Given the description of an element on the screen output the (x, y) to click on. 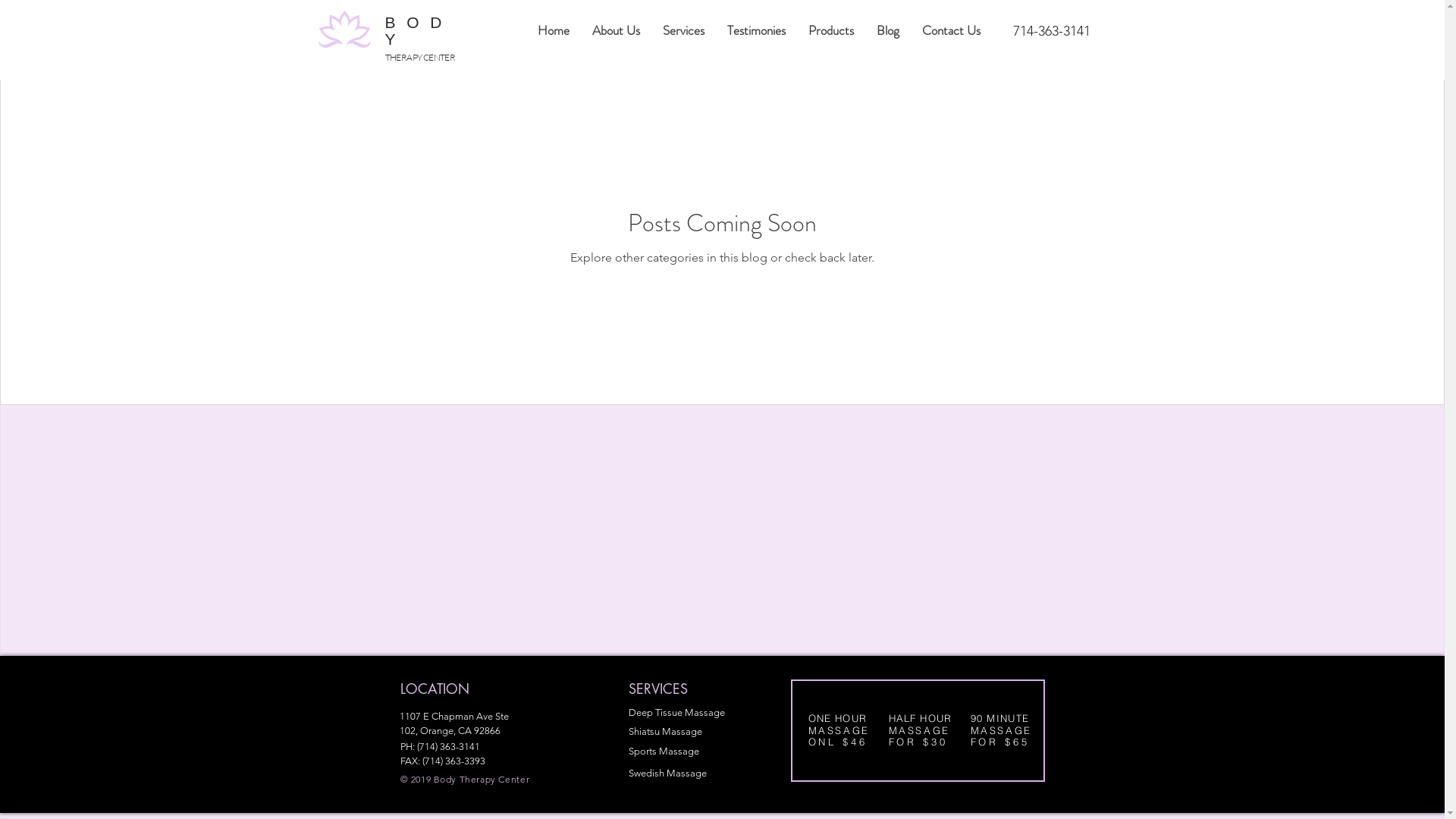
Contact Us Element type: text (950, 28)
Home Element type: text (553, 28)
Blog Element type: text (887, 28)
714-363-3141 Element type: text (1051, 30)
Services Element type: text (683, 28)
Deep Tissue Massage Element type: text (675, 712)
About Us Element type: text (615, 28)
Shiatsu Massage Element type: text (664, 731)
Products Element type: text (831, 28)
PH: (714) 363-3141 Element type: text (440, 746)
Testimonies Element type: text (756, 28)
